Given the description of an element on the screen output the (x, y) to click on. 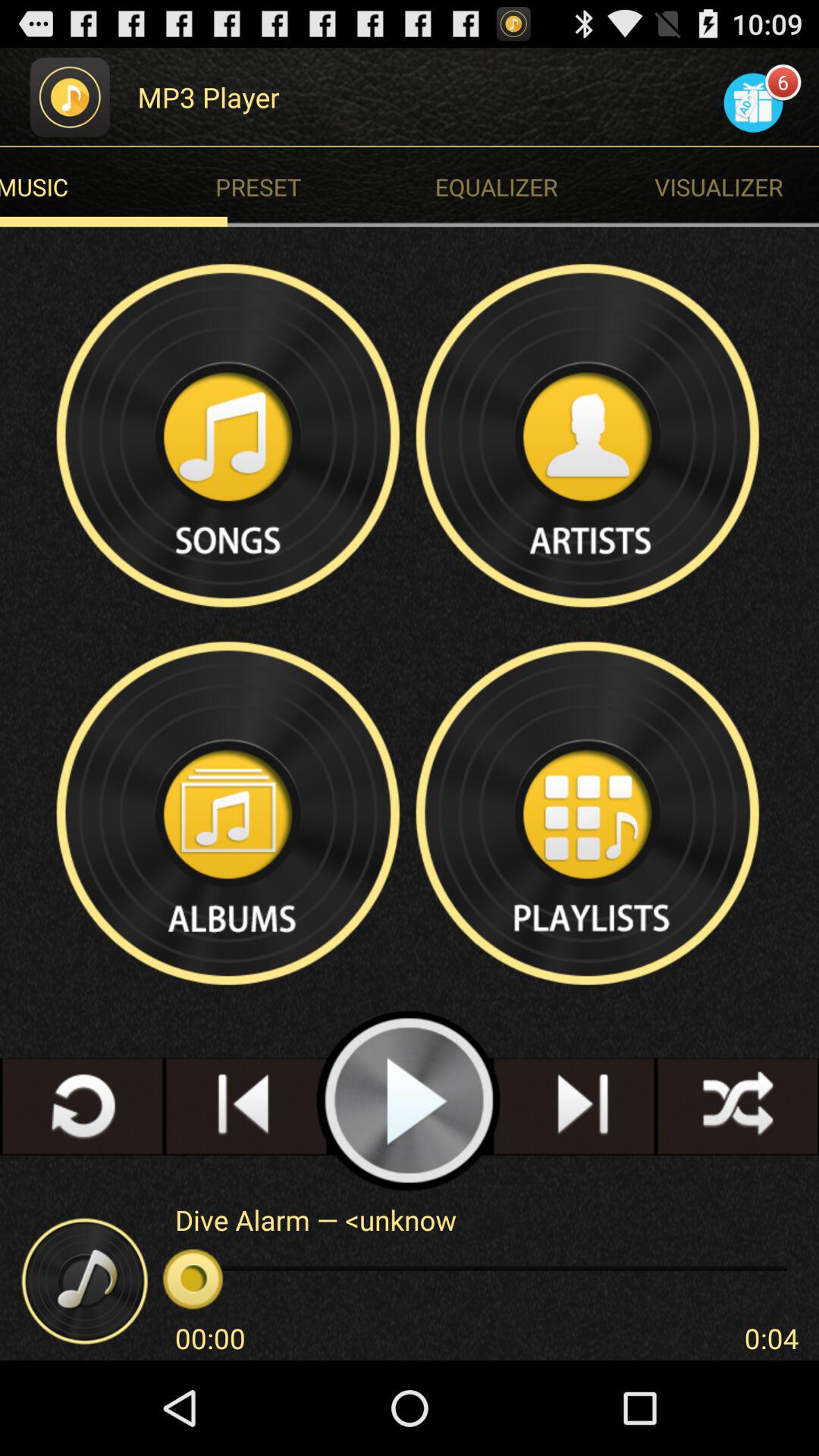
open playlists (588, 813)
